Given the description of an element on the screen output the (x, y) to click on. 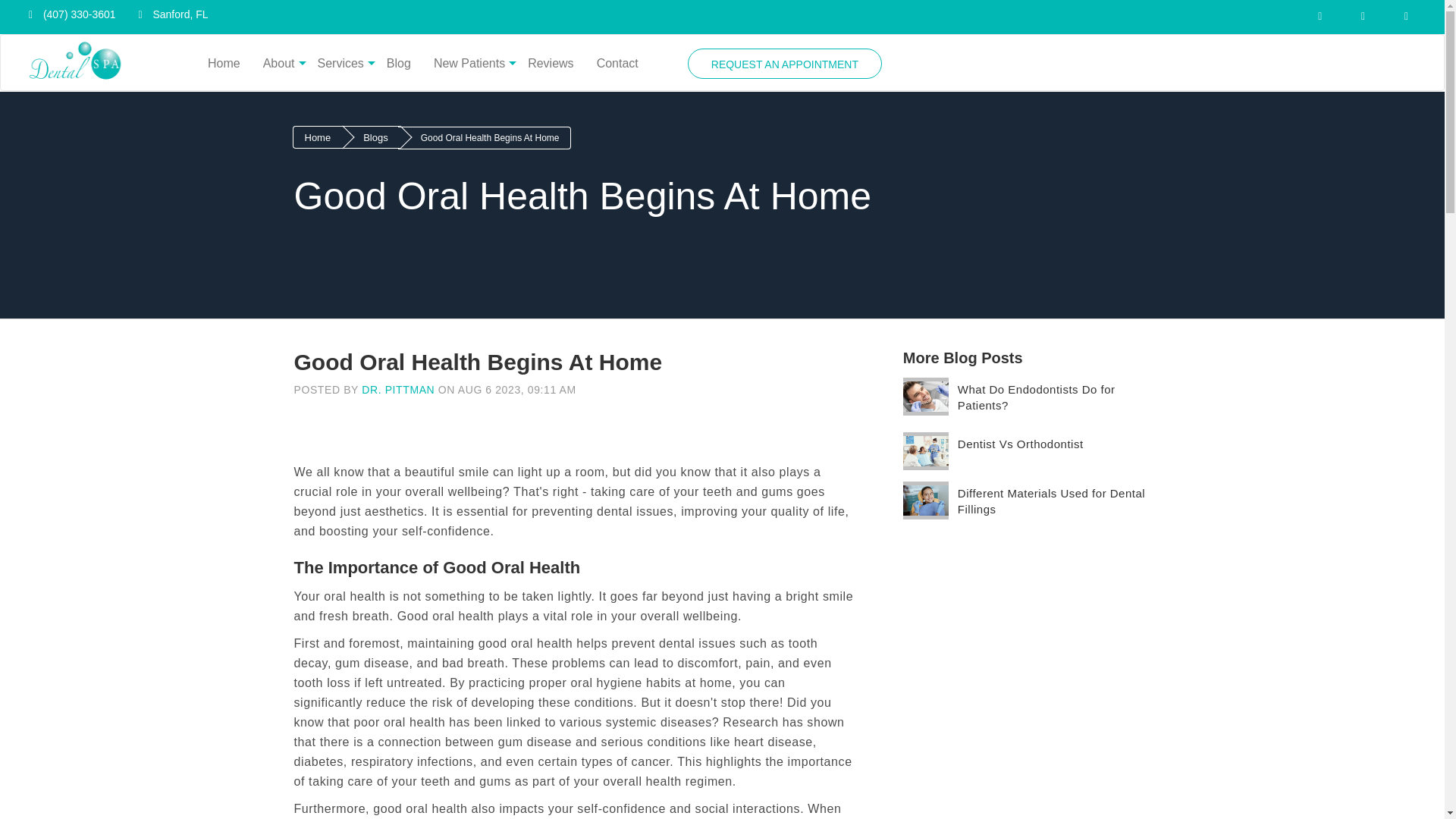
Dental SPA (75, 63)
Home (223, 63)
Sanford, FL (169, 15)
New Patients (469, 63)
Blog (398, 63)
Services (340, 63)
About (278, 63)
